Given the description of an element on the screen output the (x, y) to click on. 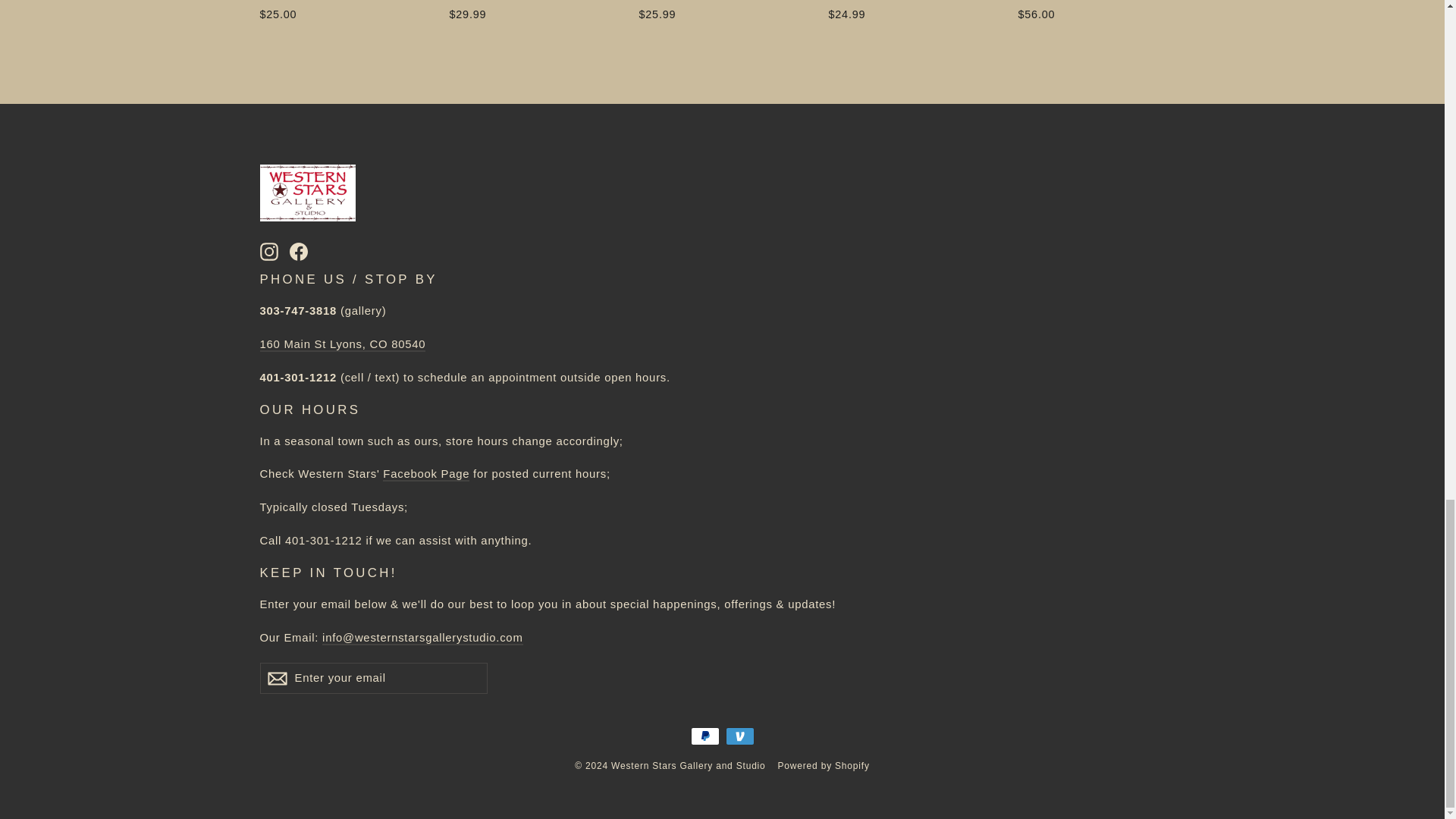
Western Stars Gallery and Studio on Facebook (298, 250)
PayPal (704, 736)
Venmo (739, 736)
Western Stars Gallery and Studio on Instagram (268, 250)
